Given the description of an element on the screen output the (x, y) to click on. 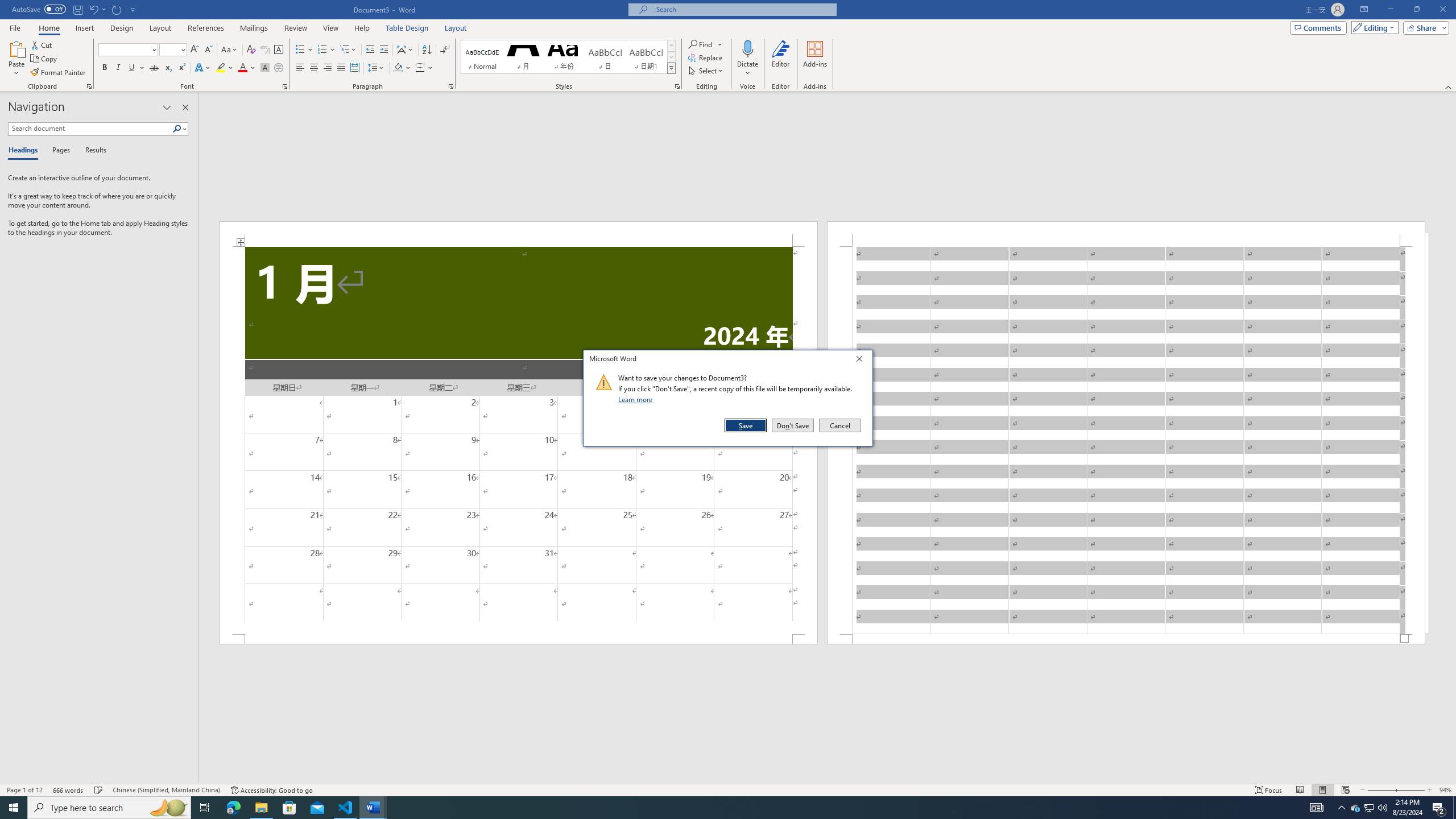
Font (124, 49)
Read Mode (1299, 790)
Cut (42, 44)
Zoom Out (1380, 790)
Repeat Text Fill Effect (1368, 807)
System (117, 9)
Justify (6, 6)
More Options (340, 67)
Borders (747, 68)
Focus  (424, 67)
Find (1268, 790)
Undo Text Fill Effect (700, 44)
